Given the description of an element on the screen output the (x, y) to click on. 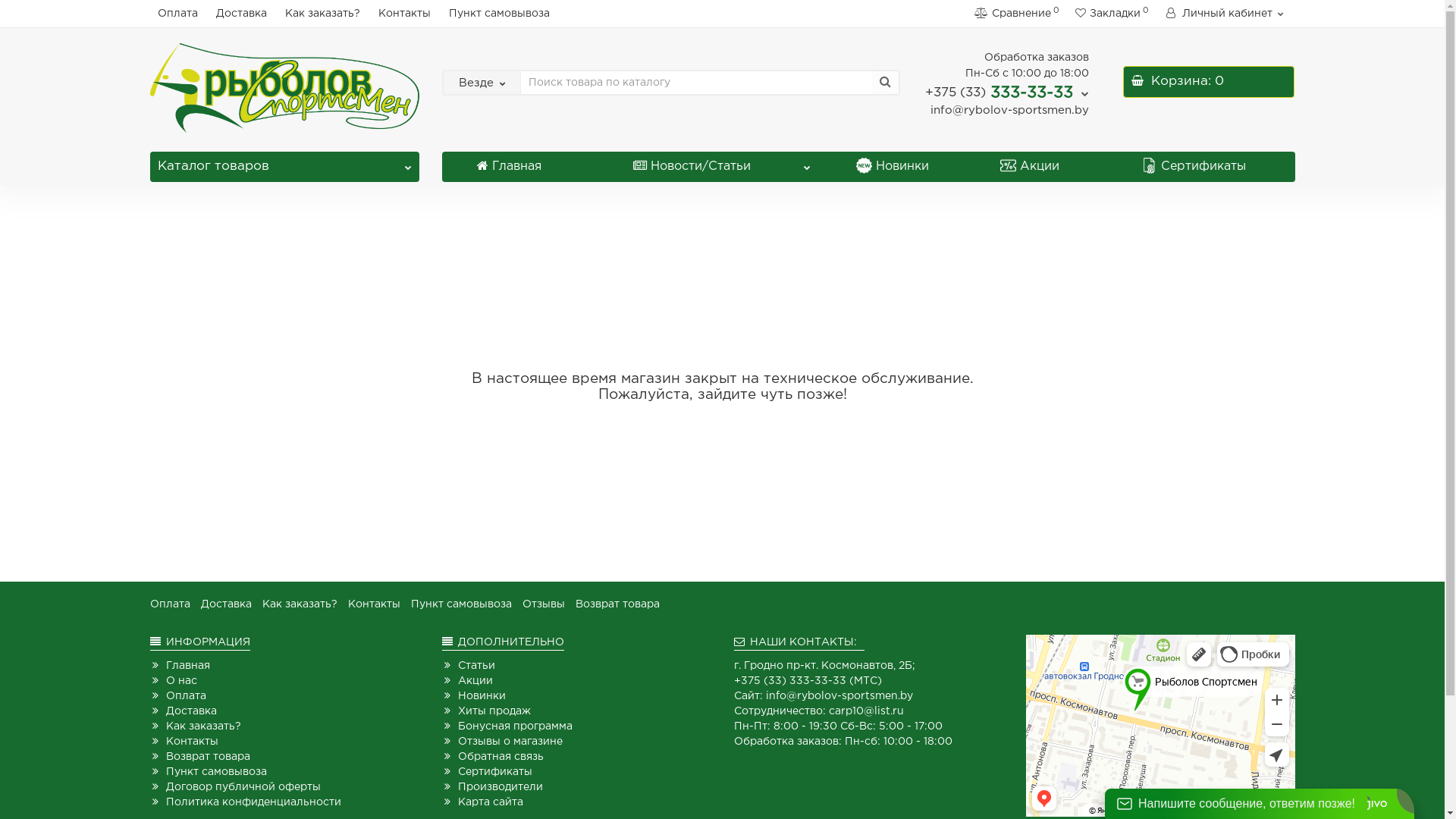
+375 (33) 333-33-33 Element type: text (1006, 92)
